Given the description of an element on the screen output the (x, y) to click on. 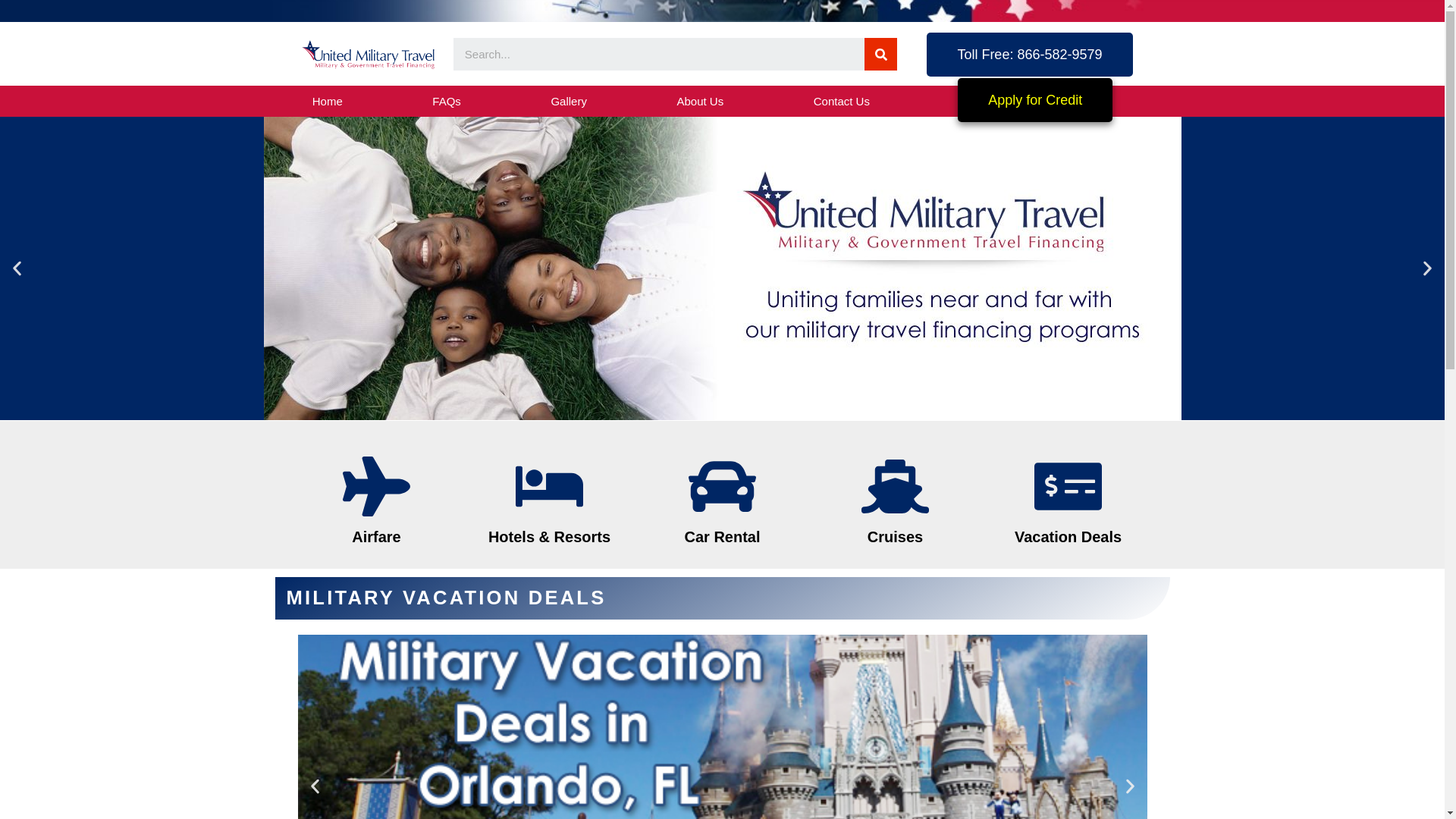
Search (880, 53)
Airfare (357, 536)
Contact Us (841, 103)
Gallery (568, 104)
Apply for Credit (1092, 99)
Toll Free: 866-582-9579 (1035, 54)
Search (658, 53)
Cruises (889, 536)
Car Rental (713, 536)
Home (326, 107)
FAQs (446, 105)
Vacation Deals (1064, 536)
About Us (699, 103)
